Given the description of an element on the screen output the (x, y) to click on. 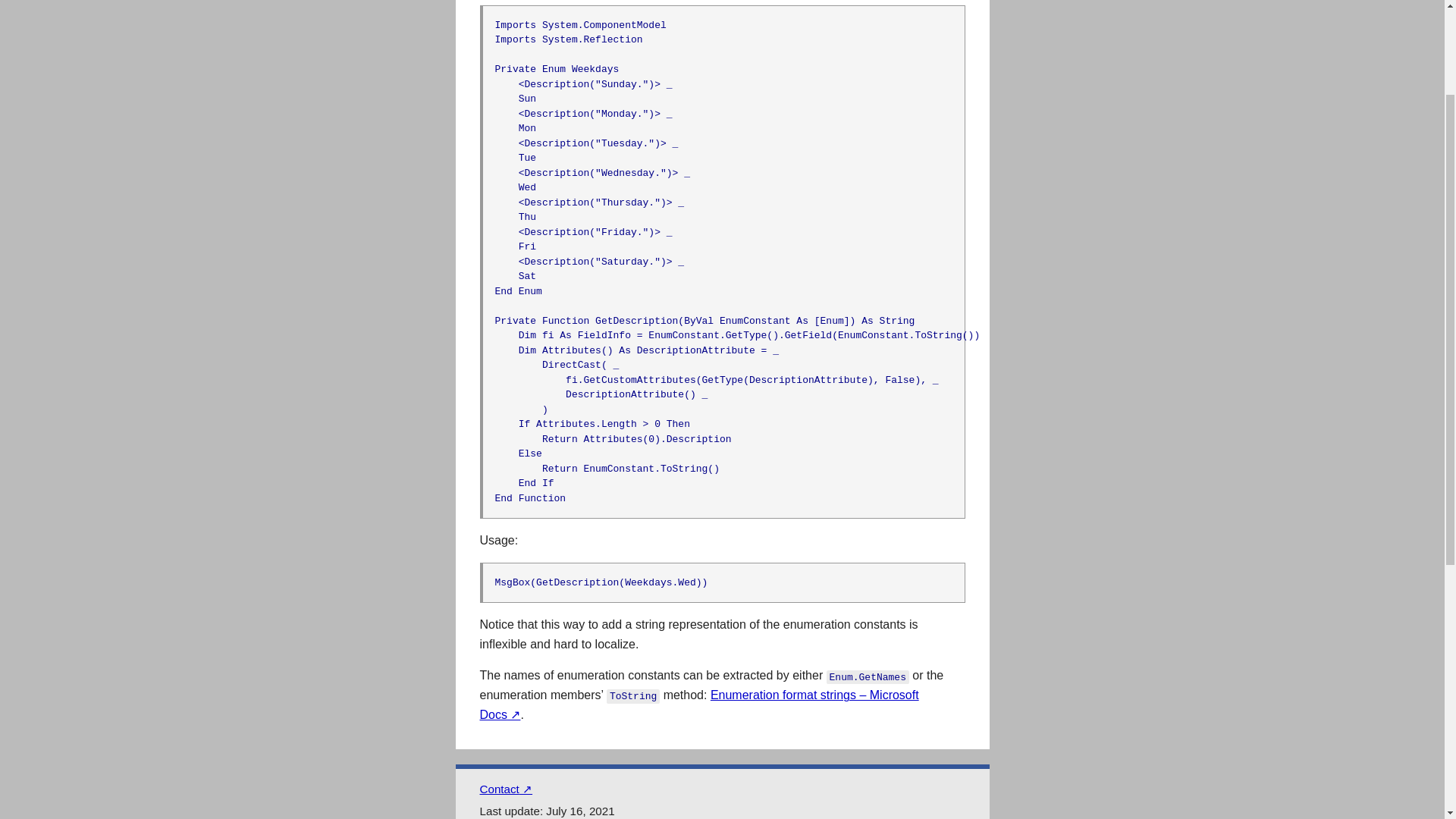
Contact (505, 788)
